Given the description of an element on the screen output the (x, y) to click on. 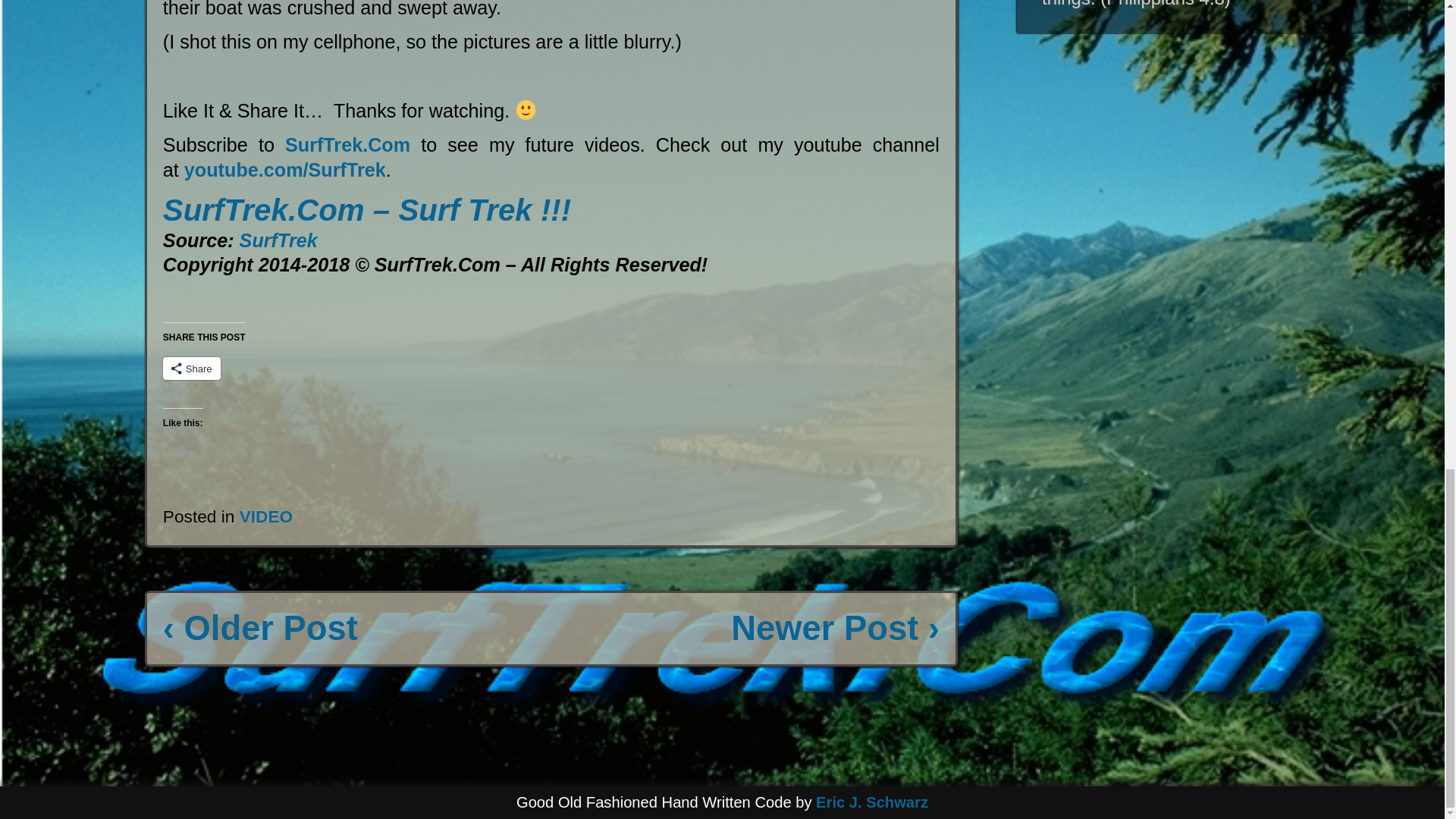
VIDEO (267, 516)
CLICK HERE To Go To SurfTrek.Com (347, 144)
SurfTrek (278, 240)
Eric J. Schwarz (871, 801)
SurfTrek.Com (347, 144)
Share (192, 368)
Go To SurfTrek YouTube Video Channel (278, 240)
CLICK HERE To Go To SurfTrek.Com (366, 209)
Go To Surf Trek YouTube Video Channel (284, 169)
